Given the description of an element on the screen output the (x, y) to click on. 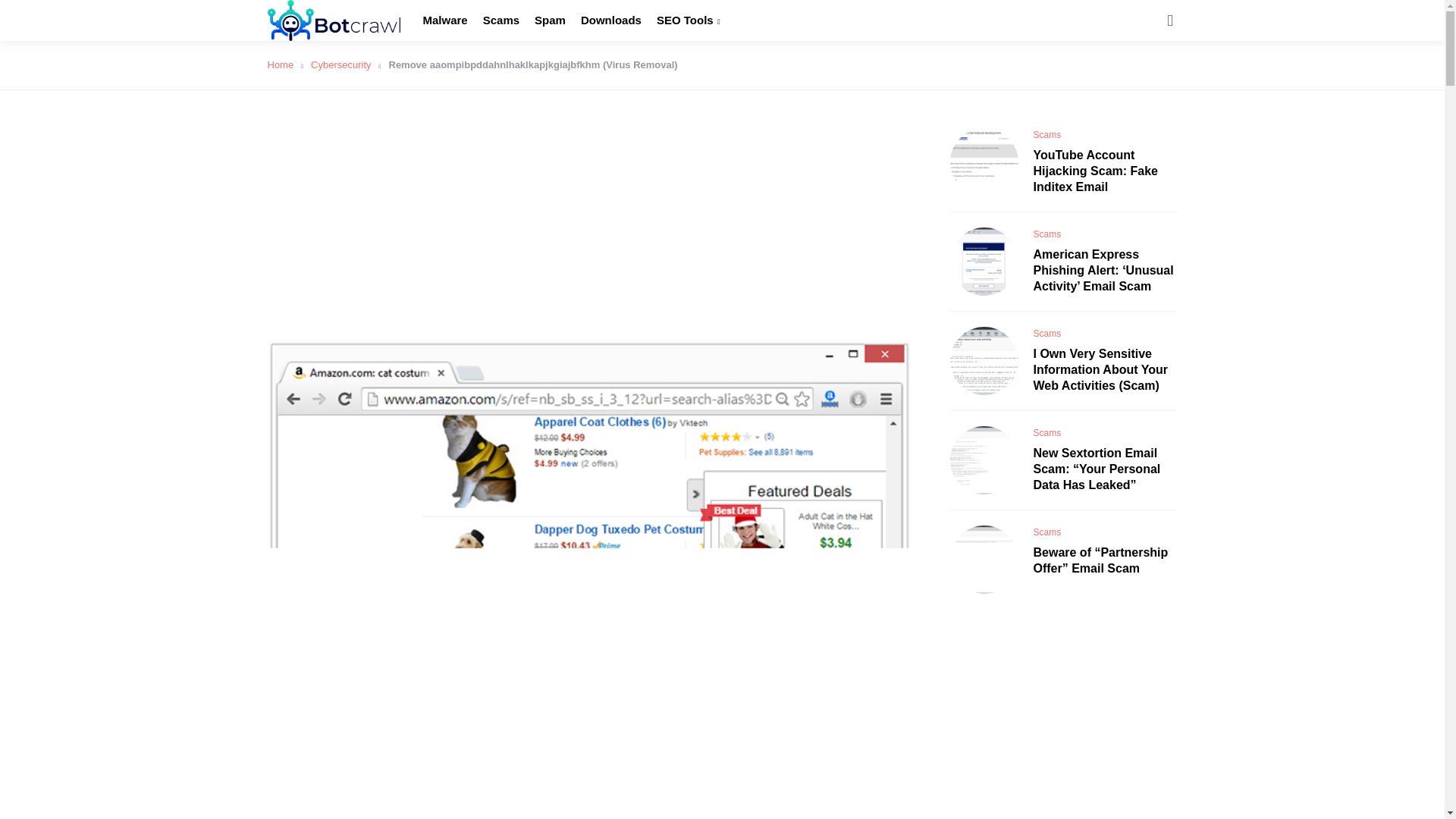
Cybersecurity (345, 64)
Home (284, 64)
Scams (501, 20)
SEO Tools (687, 20)
Downloads (611, 20)
Malware (445, 20)
Spam (550, 20)
